Given the description of an element on the screen output the (x, y) to click on. 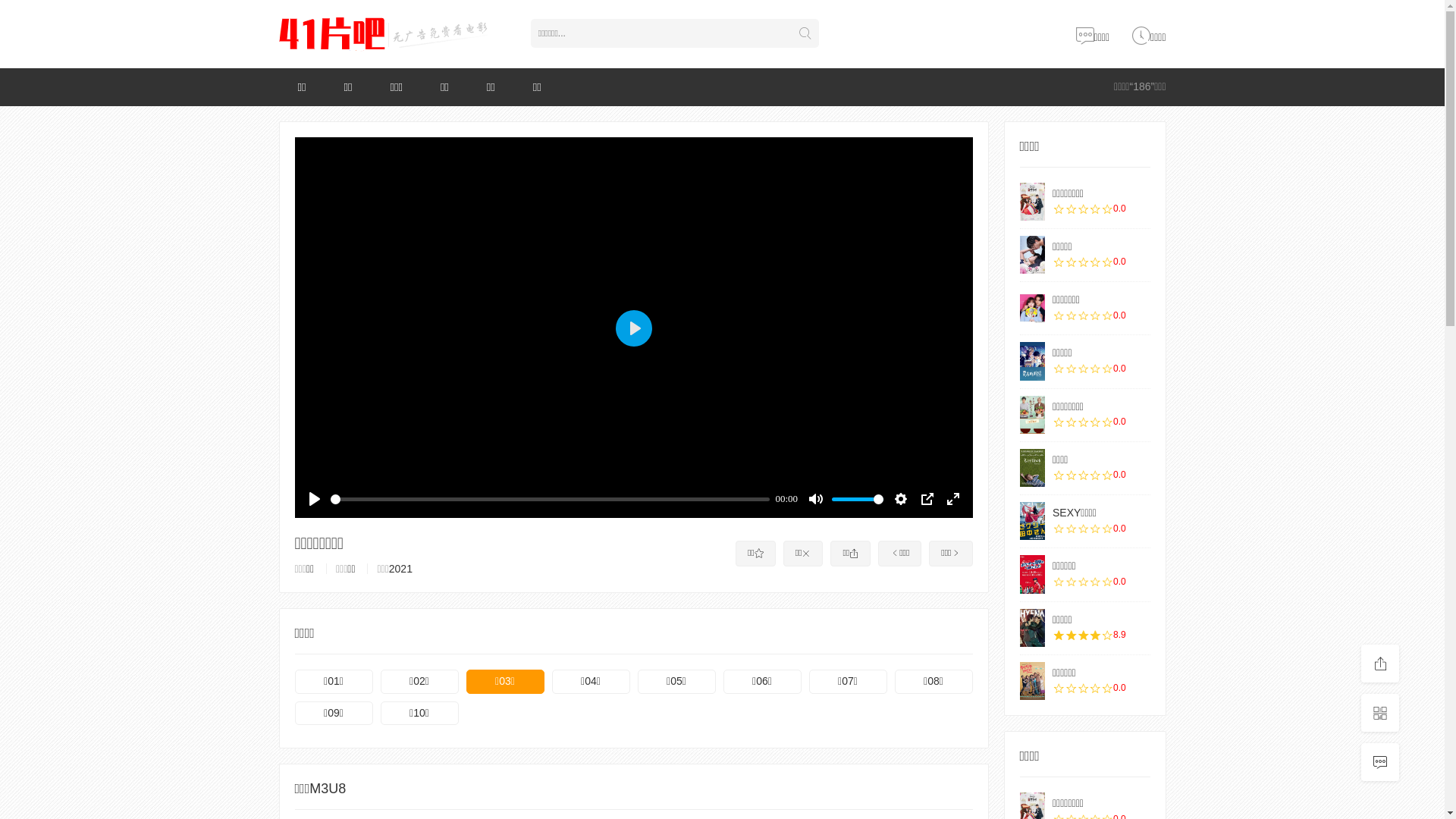
2021 Element type: text (400, 568)
